Given the description of an element on the screen output the (x, y) to click on. 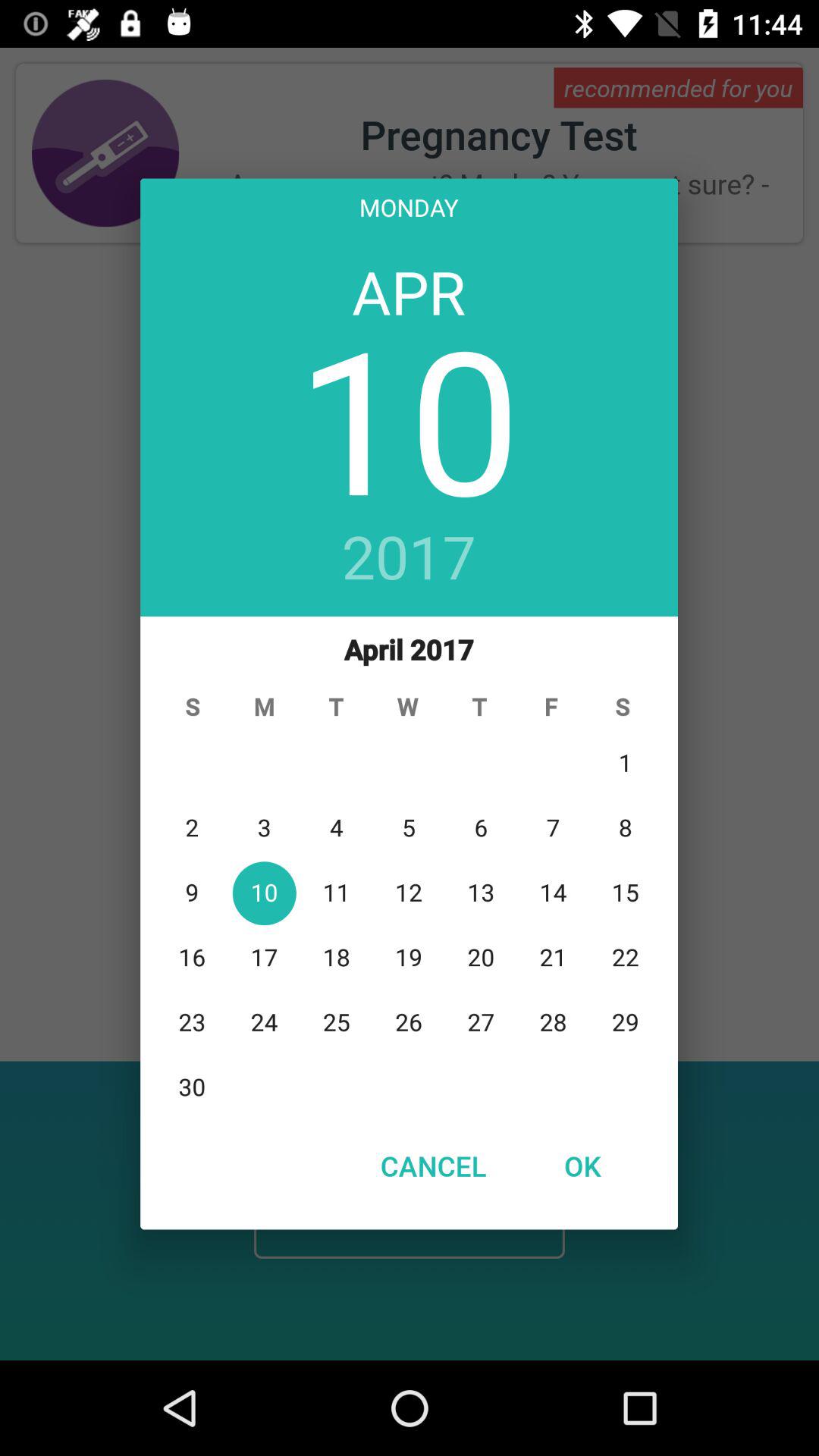
press icon below 2017 icon (409, 867)
